Given the description of an element on the screen output the (x, y) to click on. 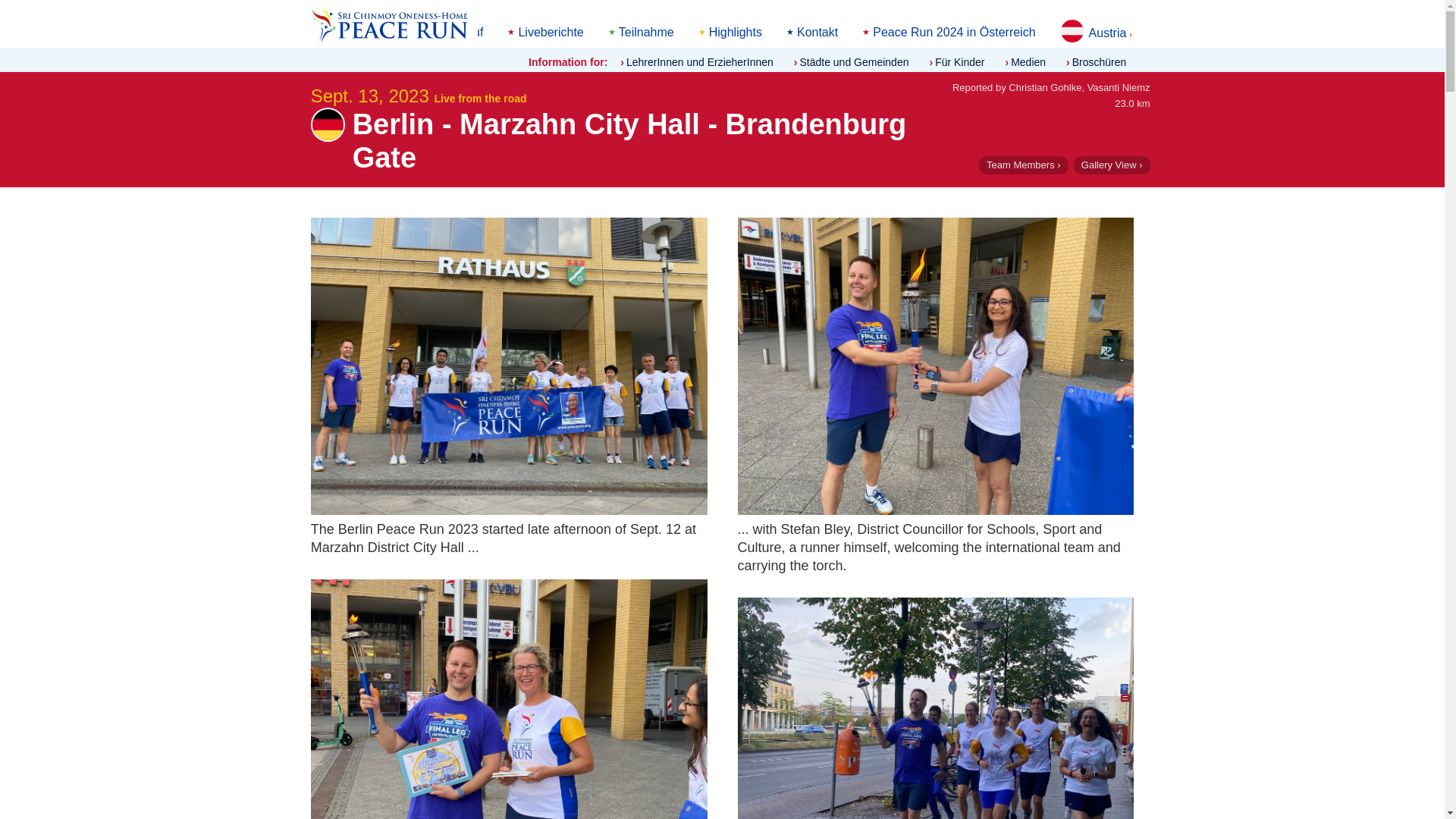
Kontakt (817, 32)
Der Lauf (458, 32)
Teilnahme (646, 32)
Highlights (735, 32)
Liveberichte (550, 32)
